Given the description of an element on the screen output the (x, y) to click on. 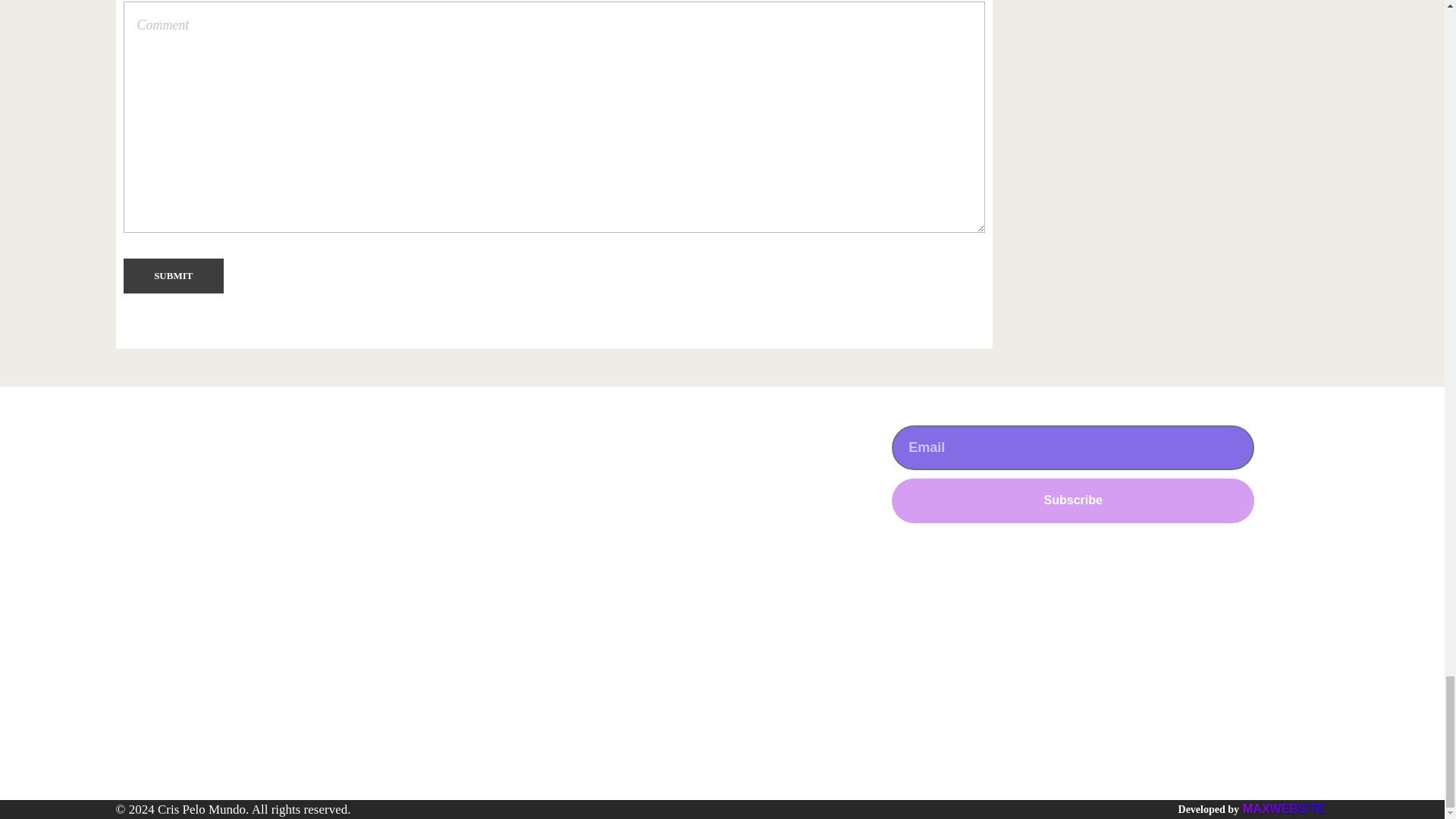
Submit (173, 275)
Submit (173, 275)
